Given the description of an element on the screen output the (x, y) to click on. 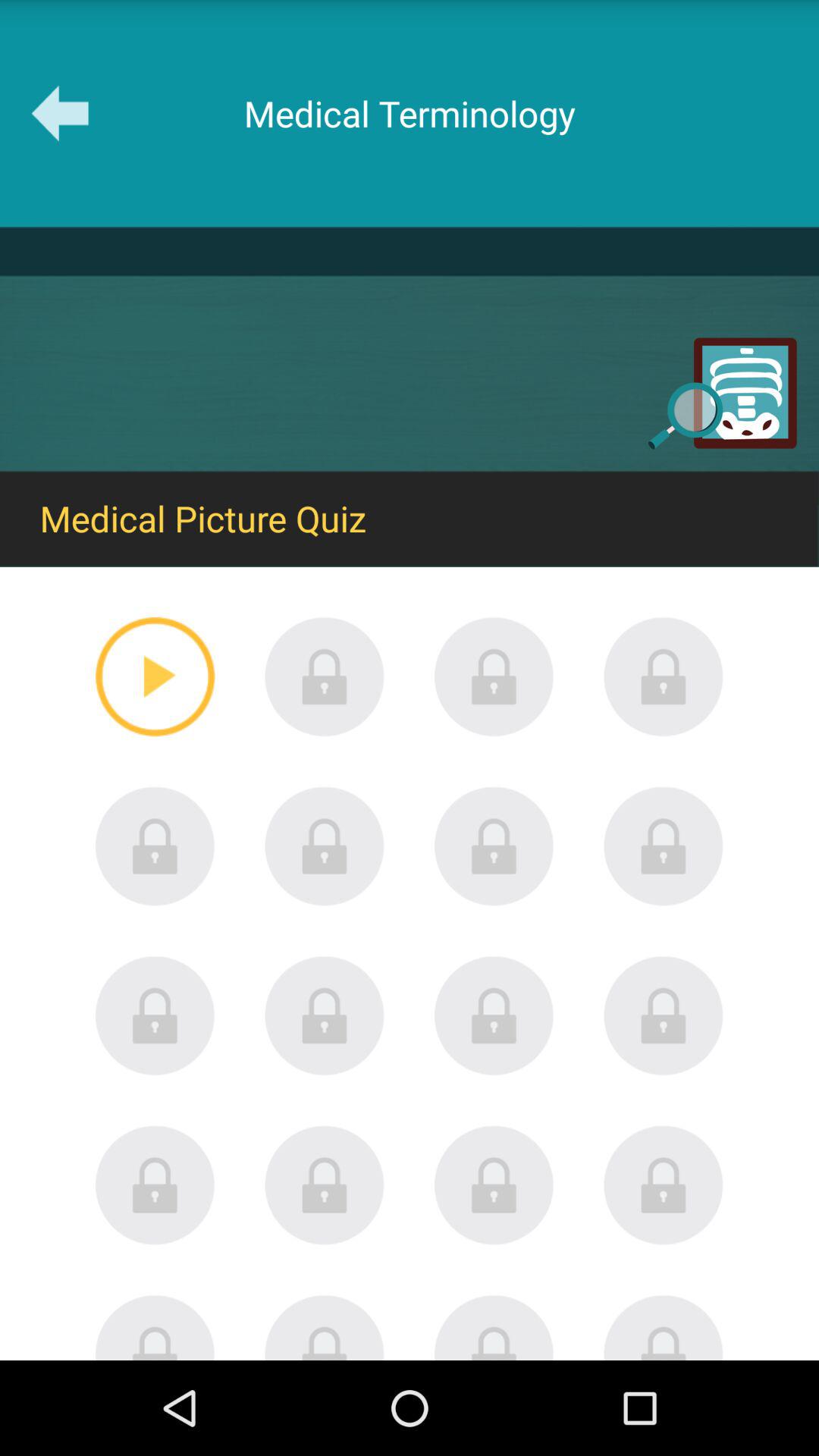
locked button (324, 1327)
